Given the description of an element on the screen output the (x, y) to click on. 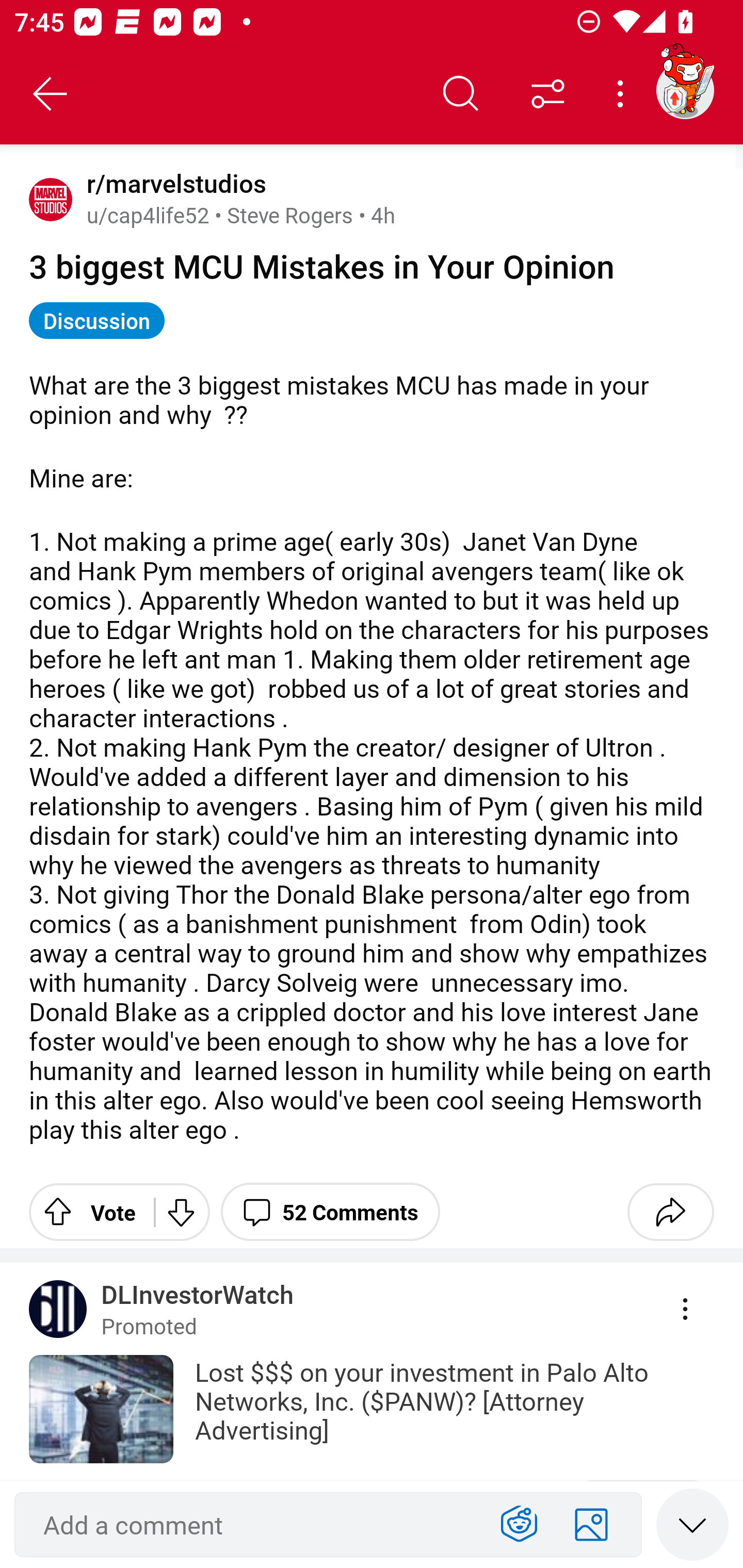
Back (50, 93)
TestAppium002 account (685, 90)
Search comments (460, 93)
Sort comments (547, 93)
More options (623, 93)
r/marvelstudios (173, 183)
Avatar (50, 199)
Discussion (96, 320)
Upvote Vote (83, 1212)
Downvote (179, 1212)
52 Comments (329, 1212)
Share (670, 1212)
Speed read (692, 1524)
Add a comment (255, 1524)
Show Expressions (518, 1524)
Add an image (590, 1524)
